Given the description of an element on the screen output the (x, y) to click on. 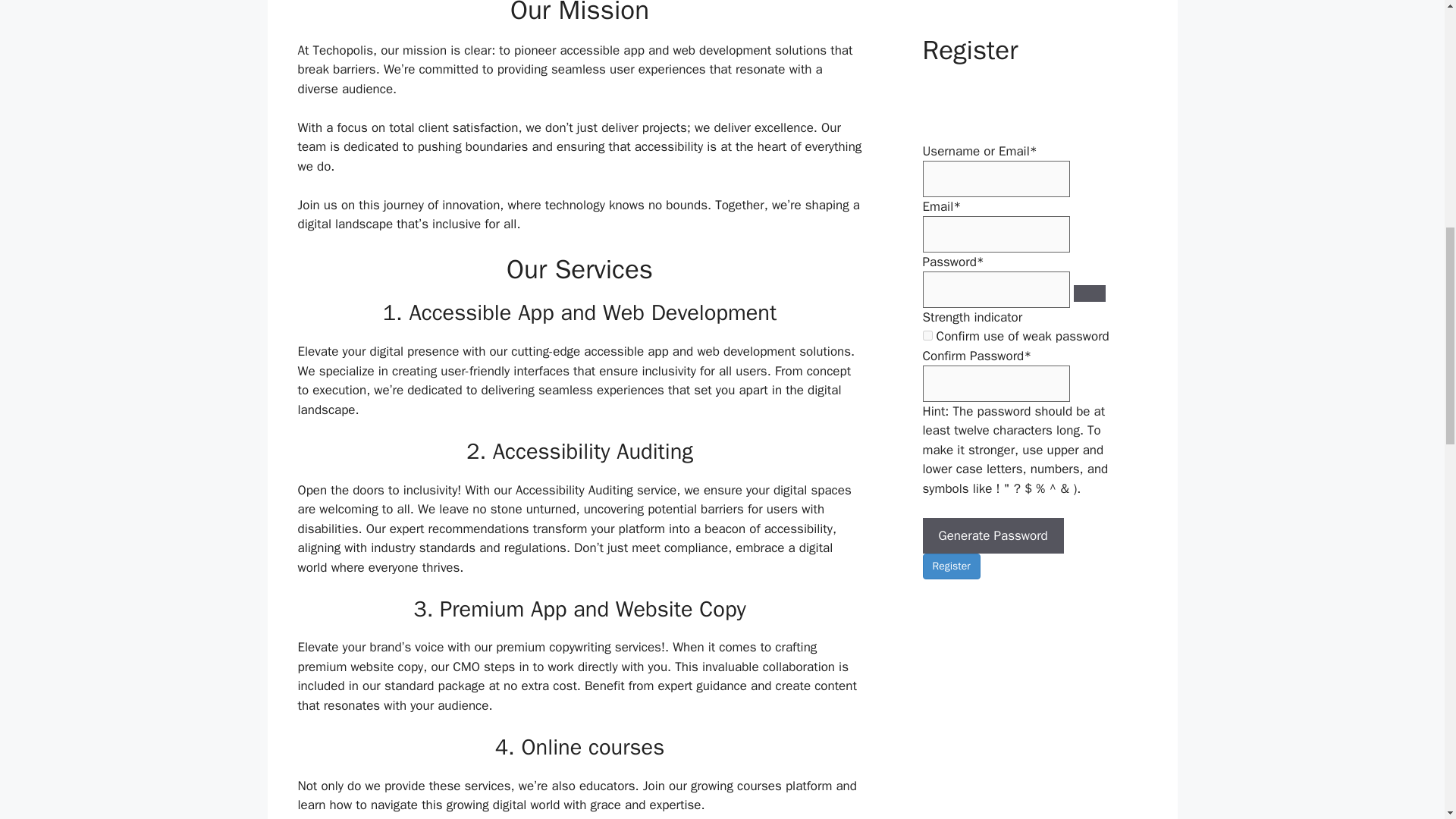
Generate Password (991, 535)
Register (950, 566)
Register (950, 566)
on (926, 335)
